Given the description of an element on the screen output the (x, y) to click on. 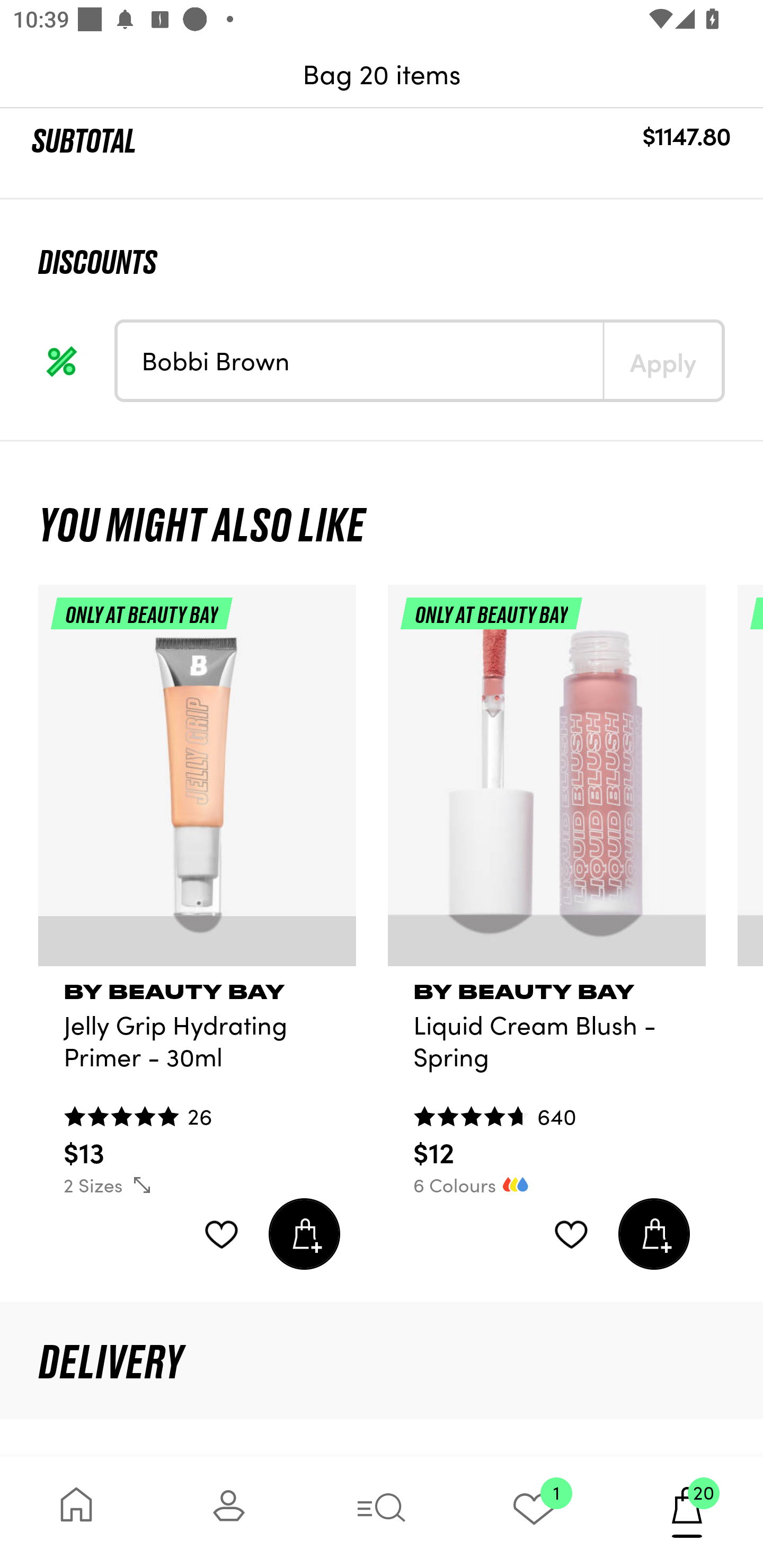
Bobbi Brown (360, 360)
Apply (661, 360)
ONLY AT BEAUTY BAY (197, 782)
ONLY AT BEAUTY BAY (546, 782)
1 (533, 1512)
20 (686, 1512)
